Given the description of an element on the screen output the (x, y) to click on. 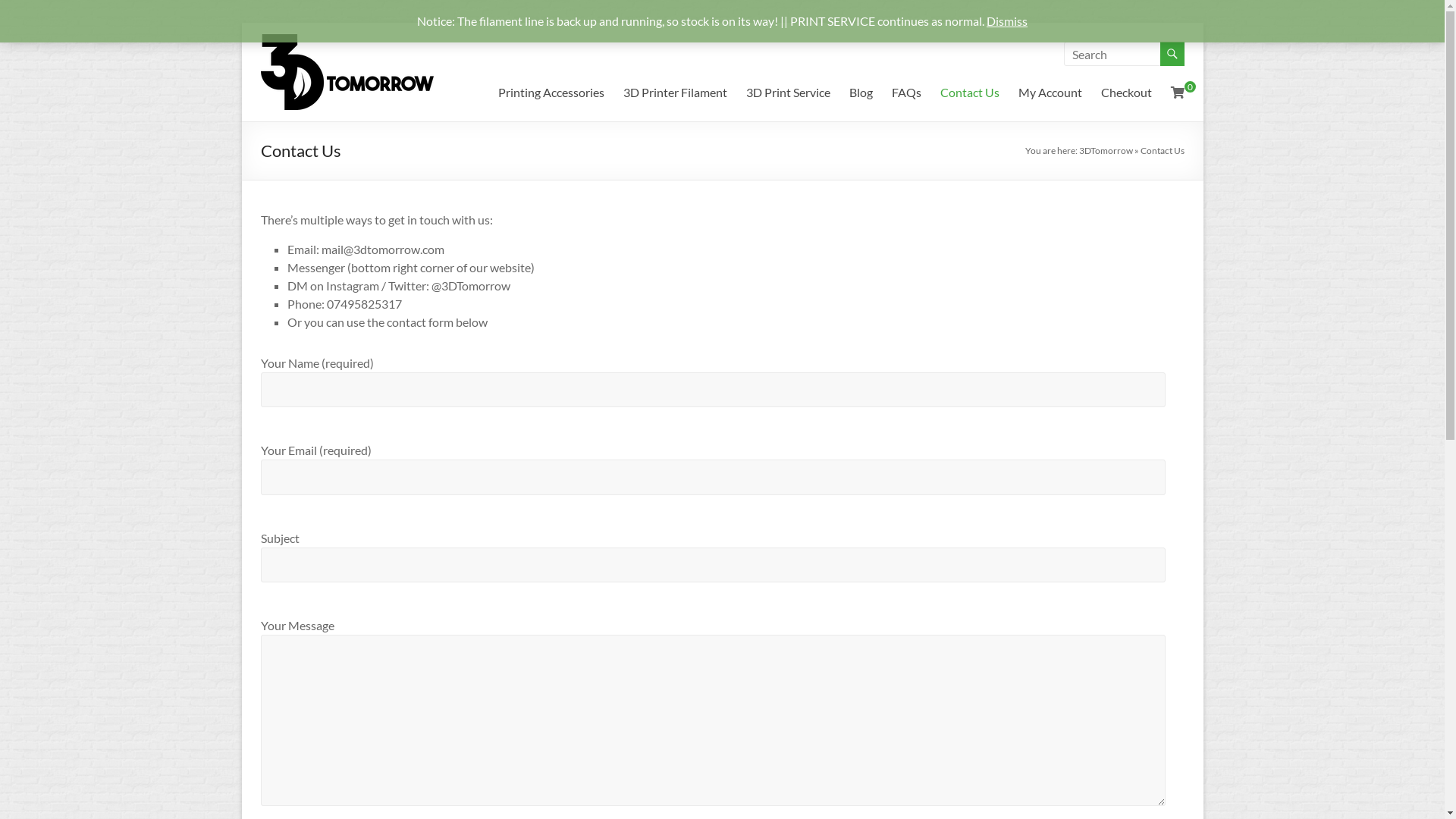
3DTomorrow Element type: text (339, 54)
FAQs Element type: text (906, 92)
0 Element type: text (1177, 92)
3DTomorrow Element type: text (1105, 150)
Printing Accessories Element type: text (550, 92)
3D Printer Filament Element type: text (675, 92)
Checkout Element type: text (1126, 92)
Contact Us Element type: text (969, 92)
Skip to content Element type: text (241, 21)
Dismiss Element type: text (1006, 20)
3D Print Service Element type: text (788, 92)
My Account Element type: text (1049, 92)
Blog Element type: text (860, 92)
